Given the description of an element on the screen output the (x, y) to click on. 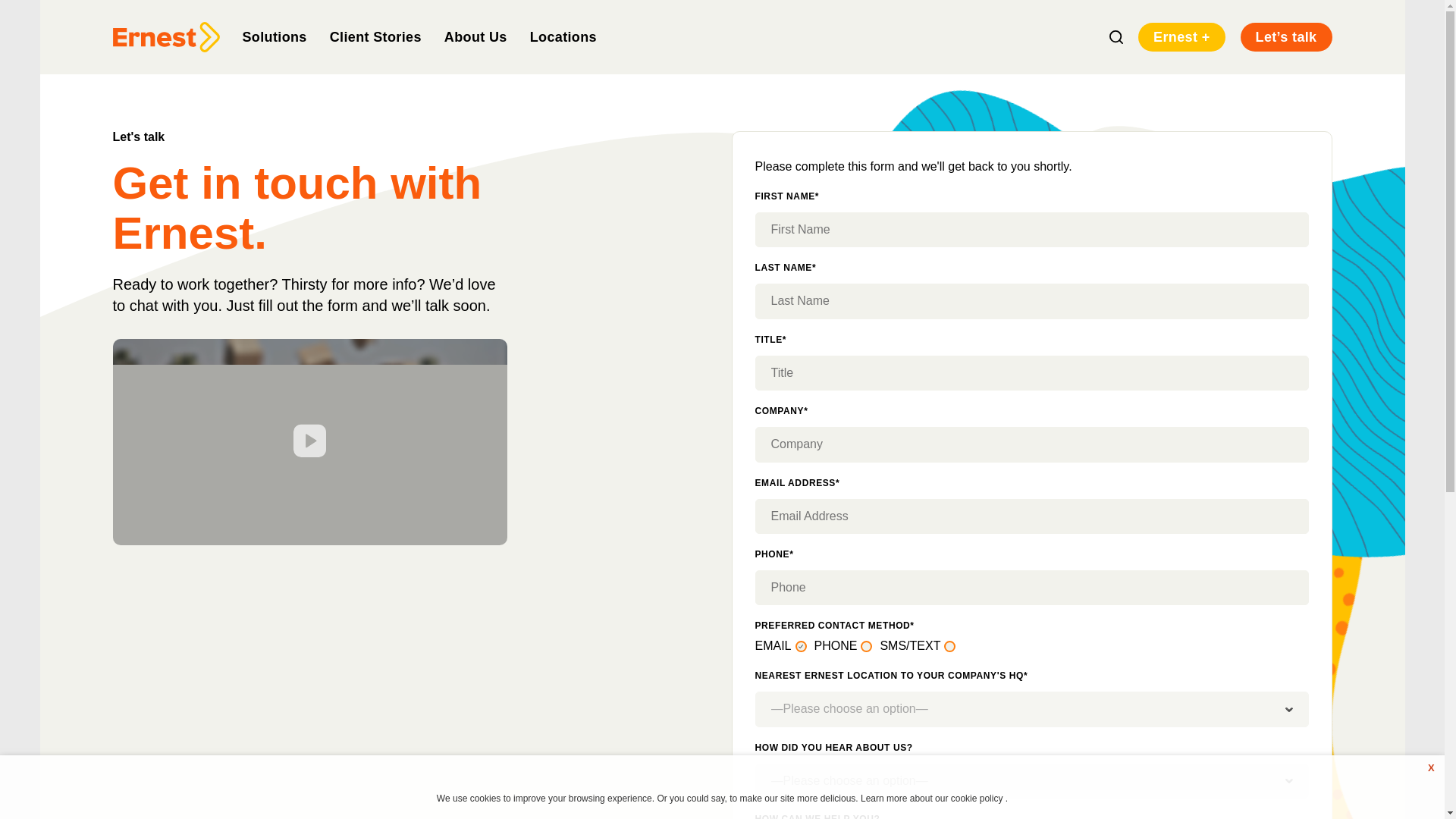
Phone (866, 645)
Solutions (275, 37)
Email (800, 645)
